Given the description of an element on the screen output the (x, y) to click on. 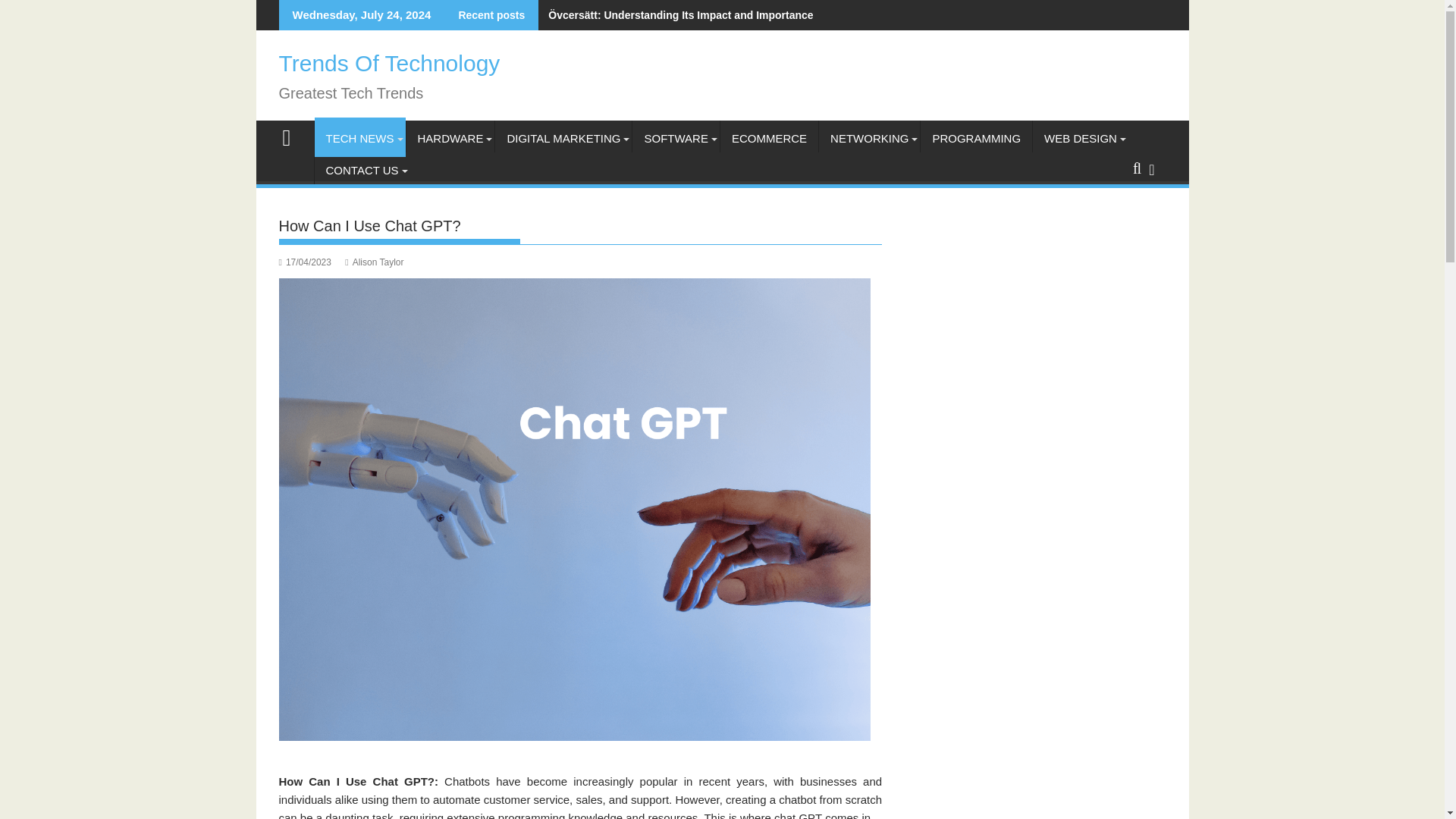
ECOMMERCE (769, 138)
NETWORKING (869, 138)
Trends Of Technology (389, 63)
SOFTWARE (675, 138)
HARDWARE (450, 138)
CONTACT US (361, 170)
DIGITAL MARKETING (563, 138)
PROGRAMMING (976, 138)
WEB DESIGN (1080, 138)
Trends Of Technology (293, 136)
TECH NEWS (359, 138)
